Given the description of an element on the screen output the (x, y) to click on. 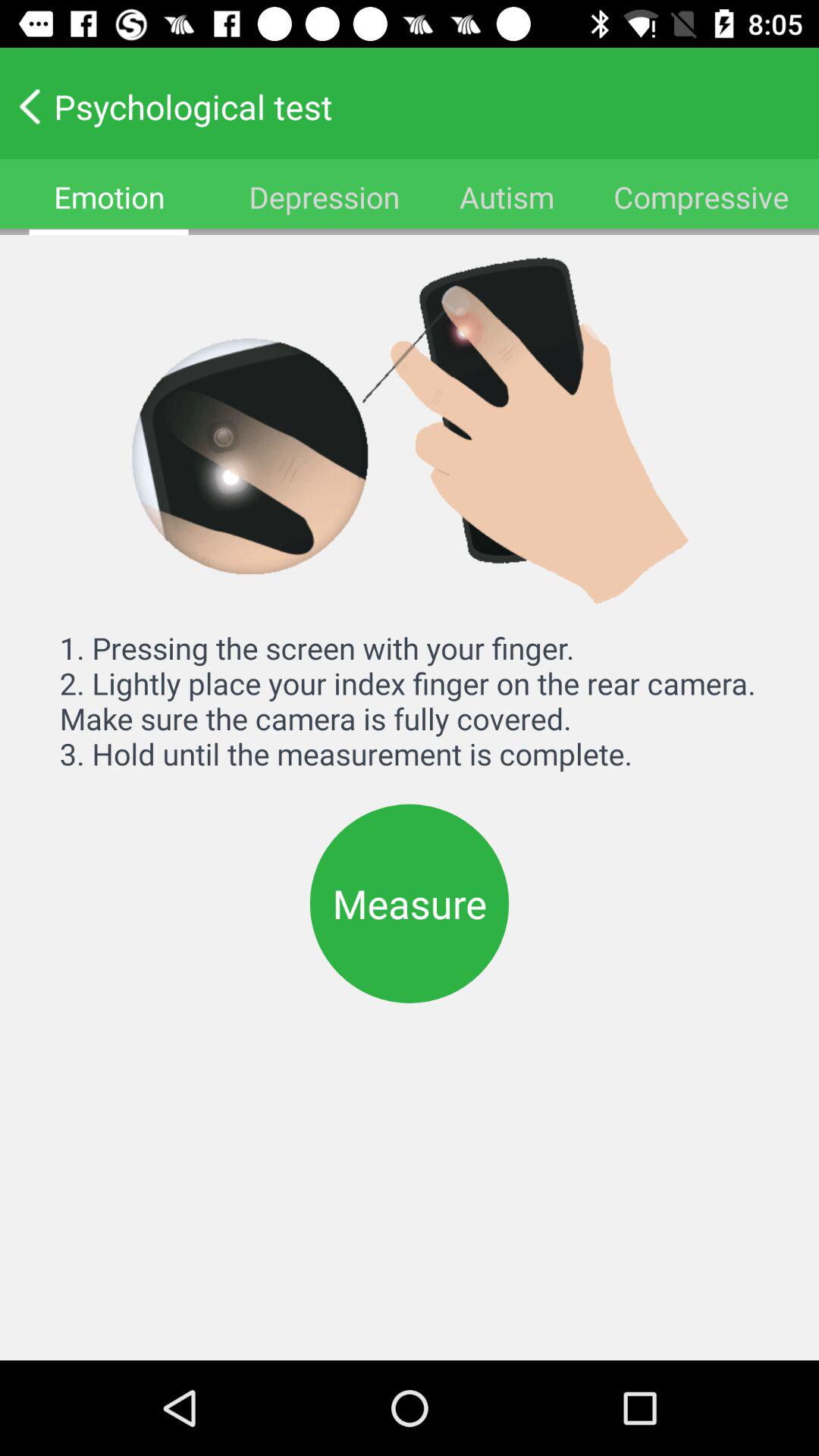
launch the icon below psychological test icon (506, 196)
